Given the description of an element on the screen output the (x, y) to click on. 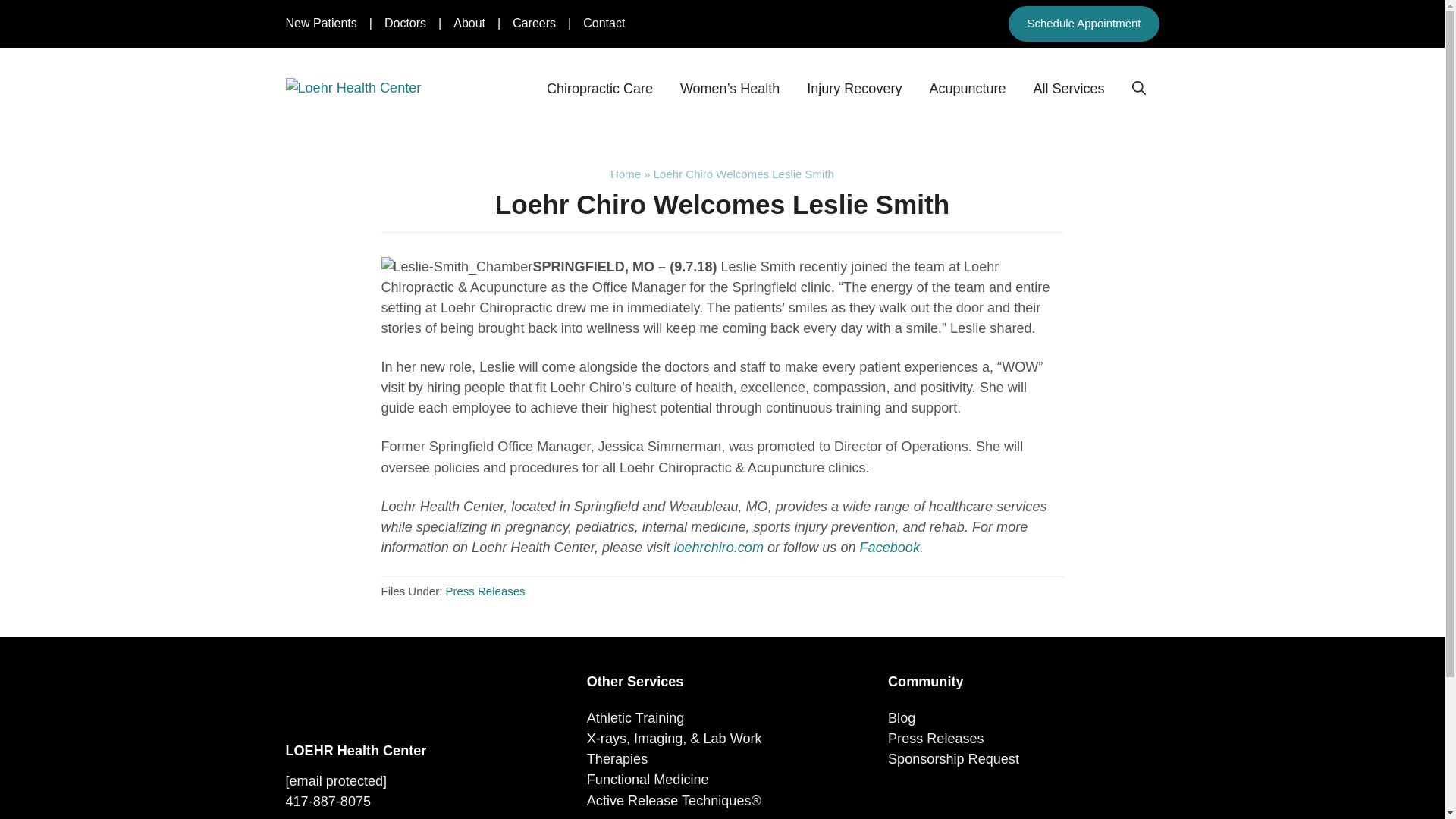
All Services (1068, 87)
Doctors (405, 22)
Functional Medicine (647, 779)
New Patients (320, 22)
About (468, 22)
loehrchiro.com (717, 547)
Blog (901, 717)
Facebook (890, 547)
Injury Recovery (854, 87)
Contact (603, 22)
